Given the description of an element on the screen output the (x, y) to click on. 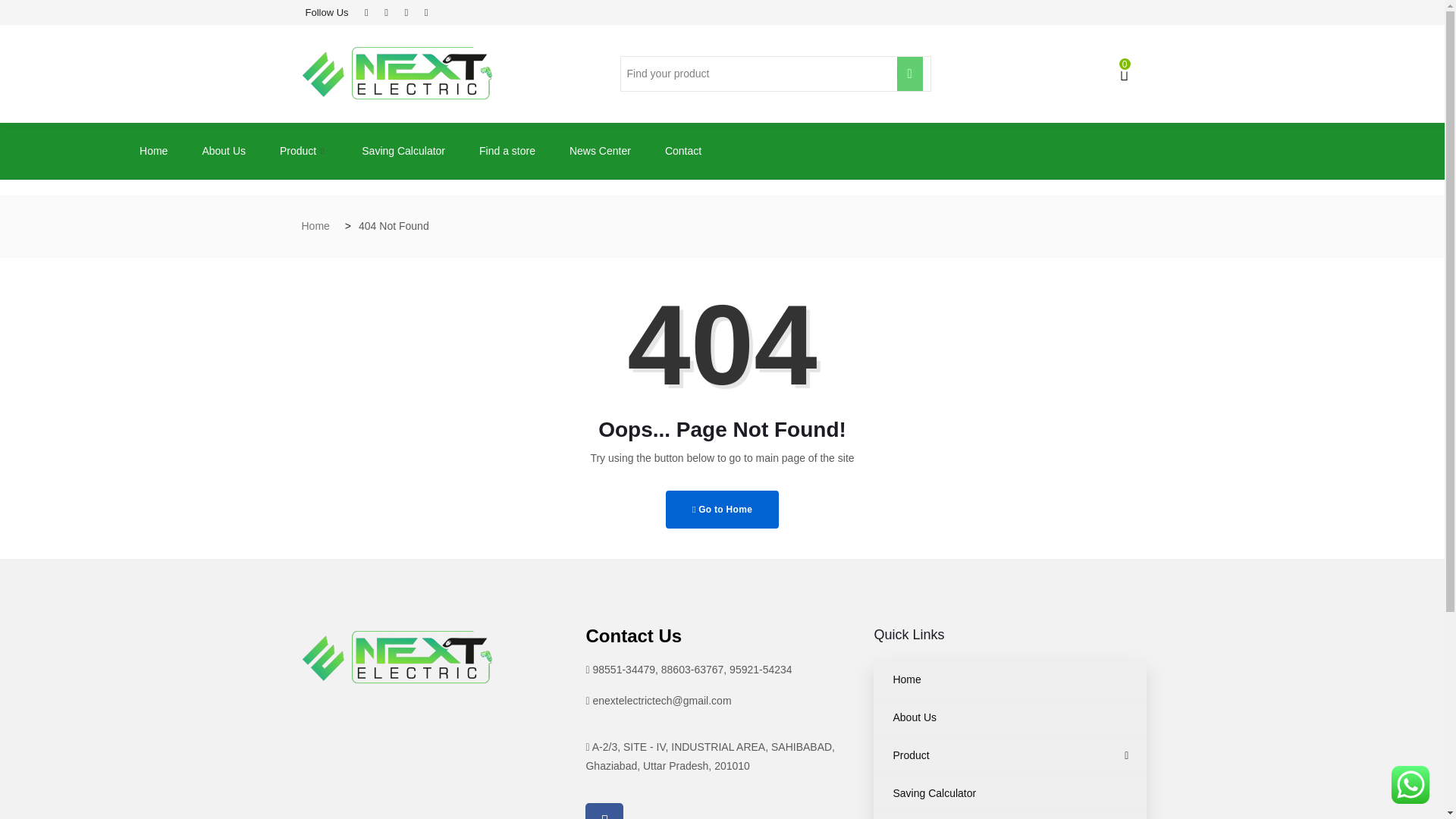
Find a store (509, 150)
About Us (225, 150)
Home (154, 150)
Product (1010, 755)
Product (305, 150)
Home (315, 225)
News Center (601, 150)
Contact (684, 150)
Saving Calculator (405, 150)
Home (1010, 679)
Go to Home (721, 509)
About Us (1010, 717)
